Given the description of an element on the screen output the (x, y) to click on. 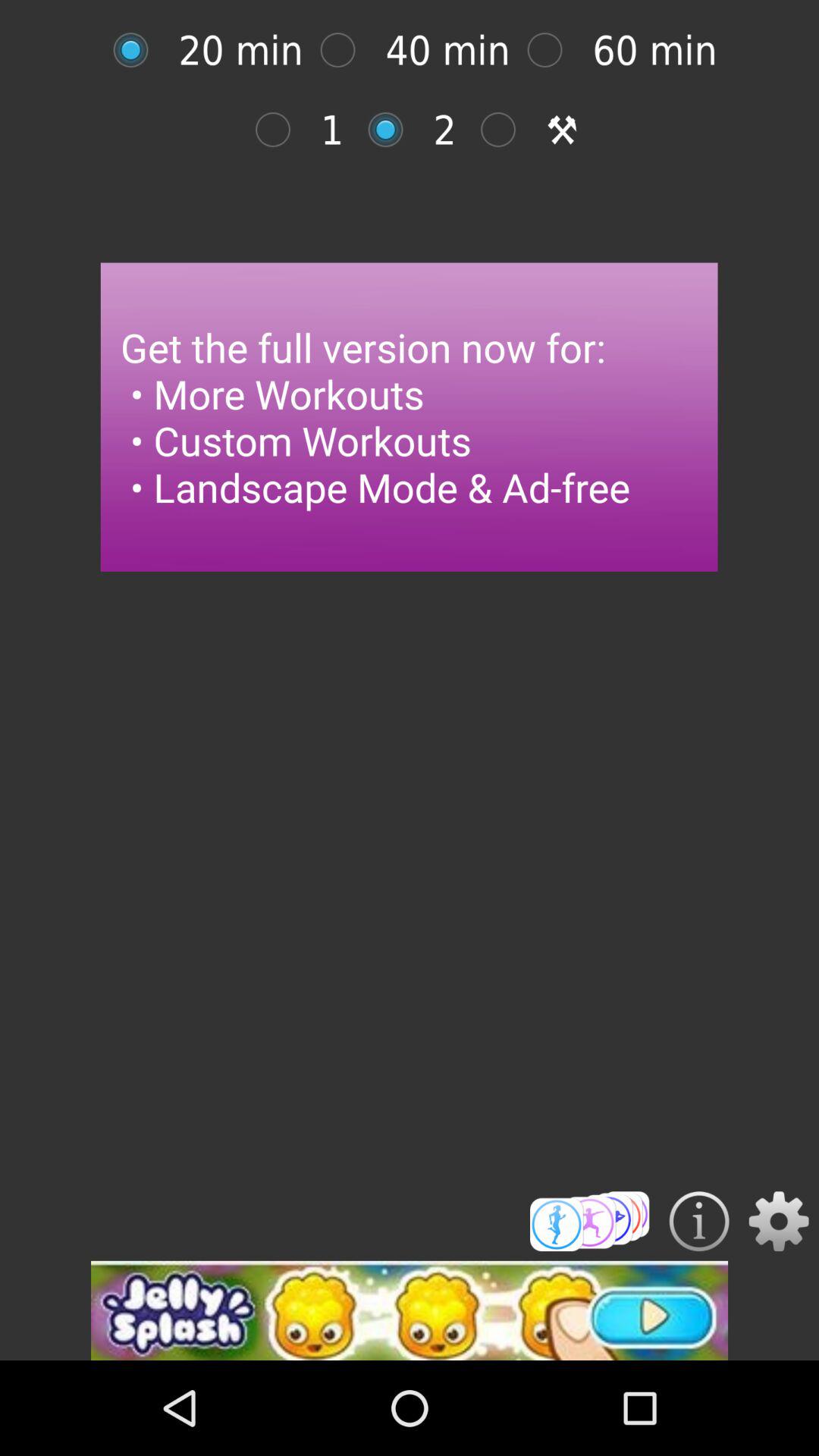
select page (506, 129)
